Given the description of an element on the screen output the (x, y) to click on. 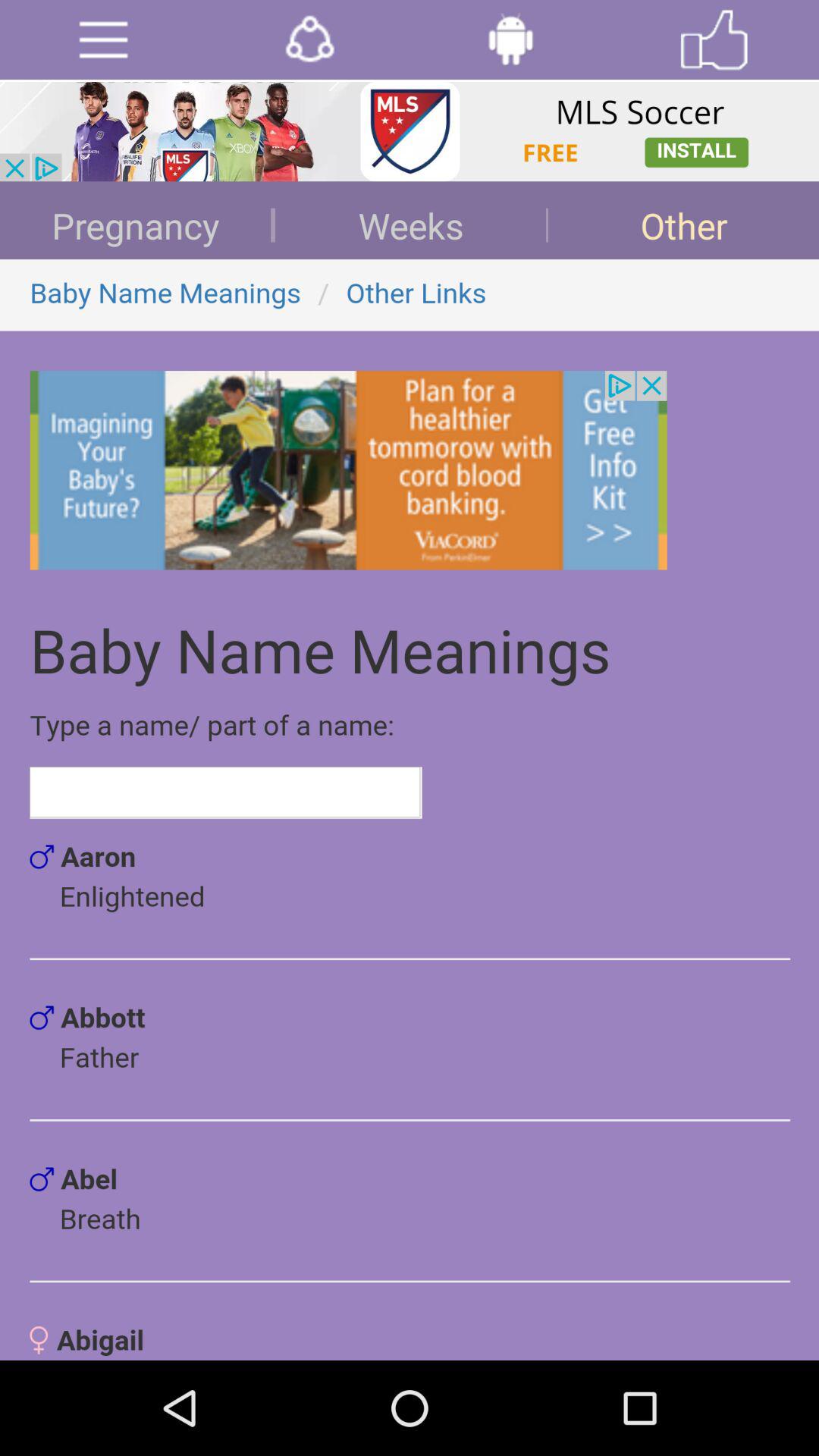
go to external advertisement (409, 131)
